Given the description of an element on the screen output the (x, y) to click on. 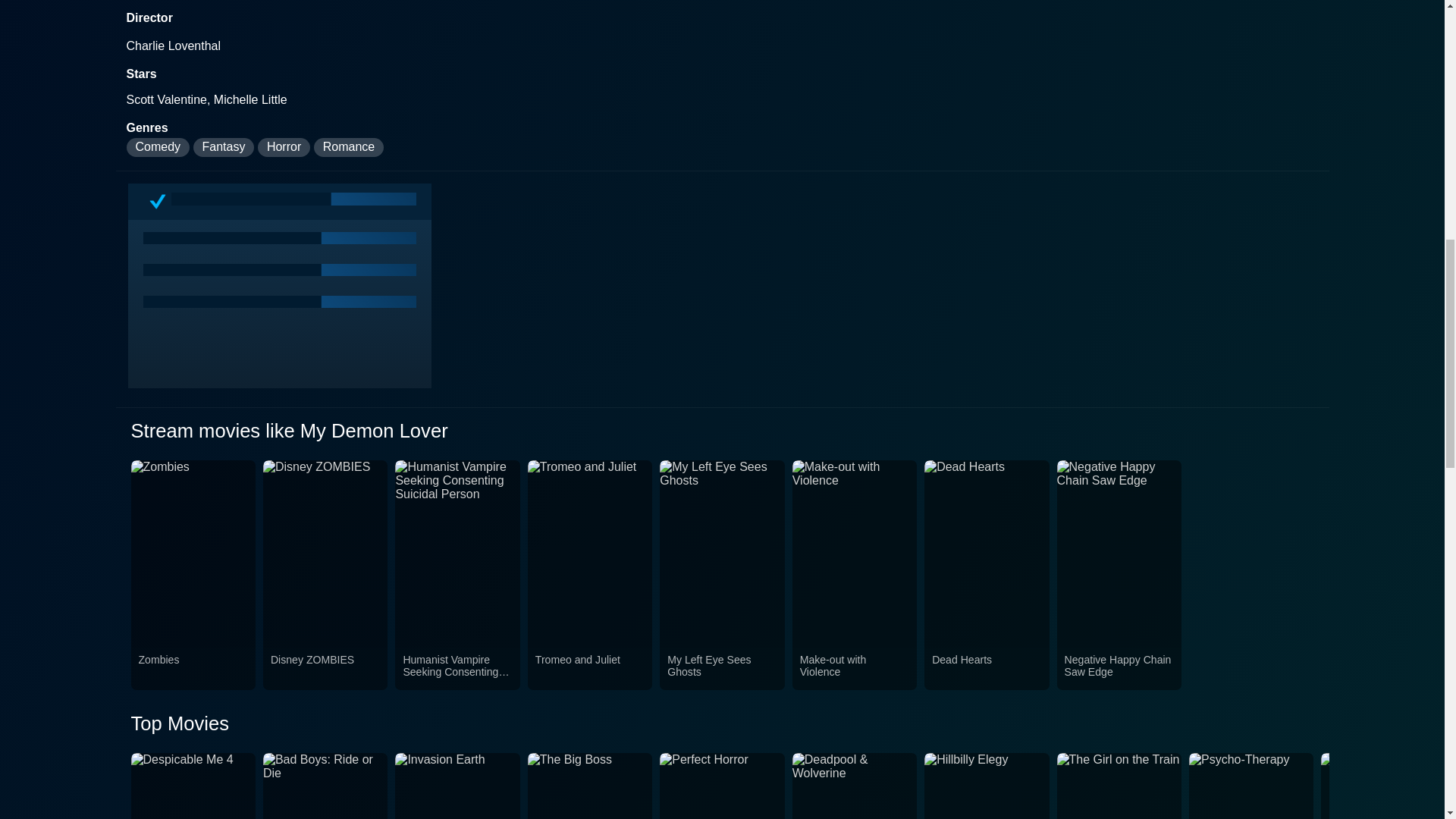
Tromeo and Juliet (590, 668)
Comedy (157, 147)
Negative Happy Chain Saw Edge (1118, 668)
Romance (349, 147)
Horror (283, 147)
Humanist Vampire Seeking Consenting Suicidal Person (457, 668)
Make-out with Violence (853, 668)
Fantasy (223, 147)
Disney ZOMBIES (325, 668)
Zombies (192, 668)
Dead Hearts (986, 668)
My Left Eye Sees Ghosts (721, 668)
